Given the description of an element on the screen output the (x, y) to click on. 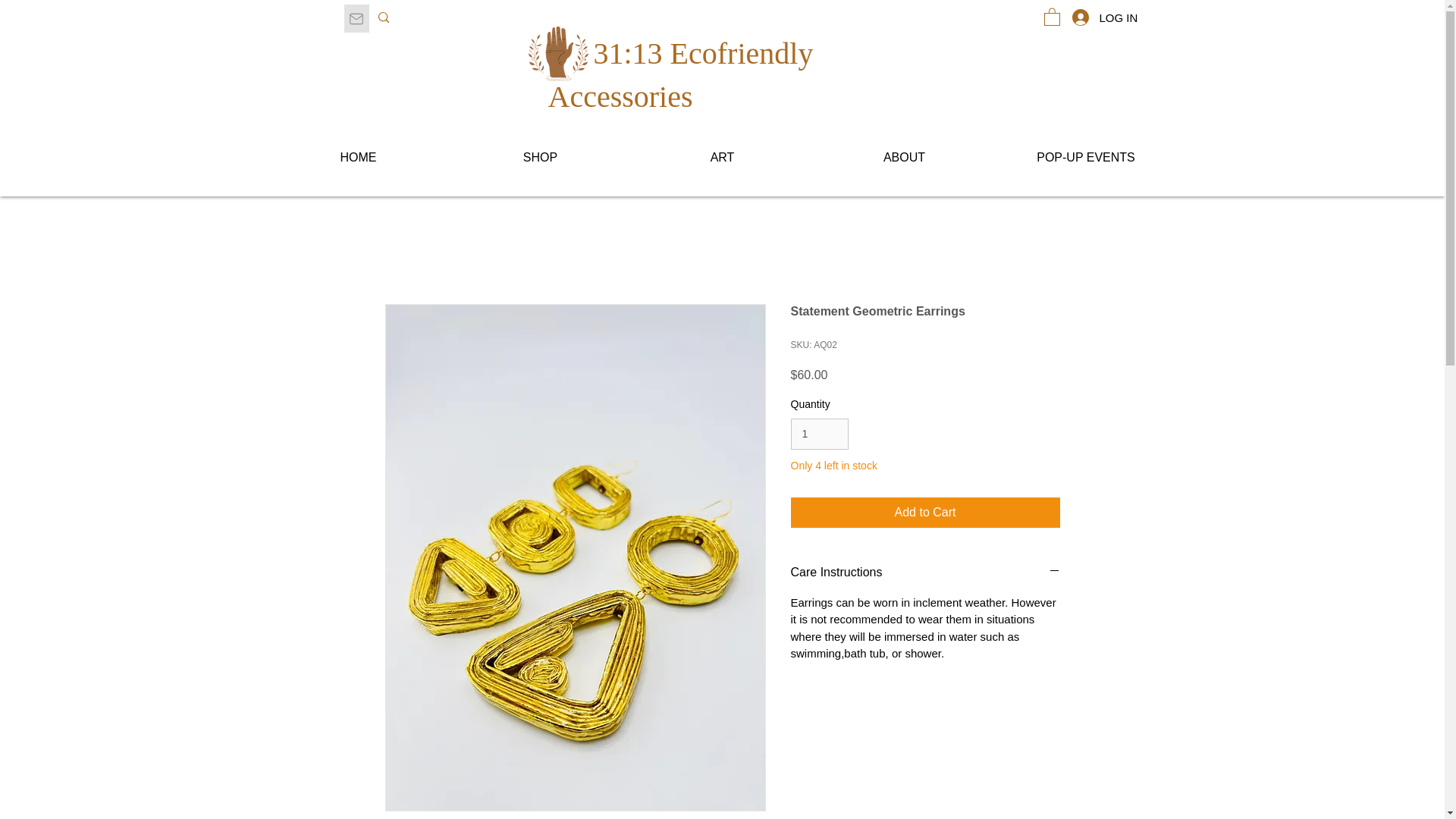
ABOUT (903, 157)
Care Instructions (924, 572)
Add to Cart (924, 512)
HOME (357, 157)
image1.PNG (556, 53)
SHOP (539, 157)
1 (818, 433)
      31:13 Ecofriendly Accessories (679, 74)
LOG IN (1077, 17)
ART (721, 157)
POP-UP EVENTS (1085, 157)
